Given the description of an element on the screen output the (x, y) to click on. 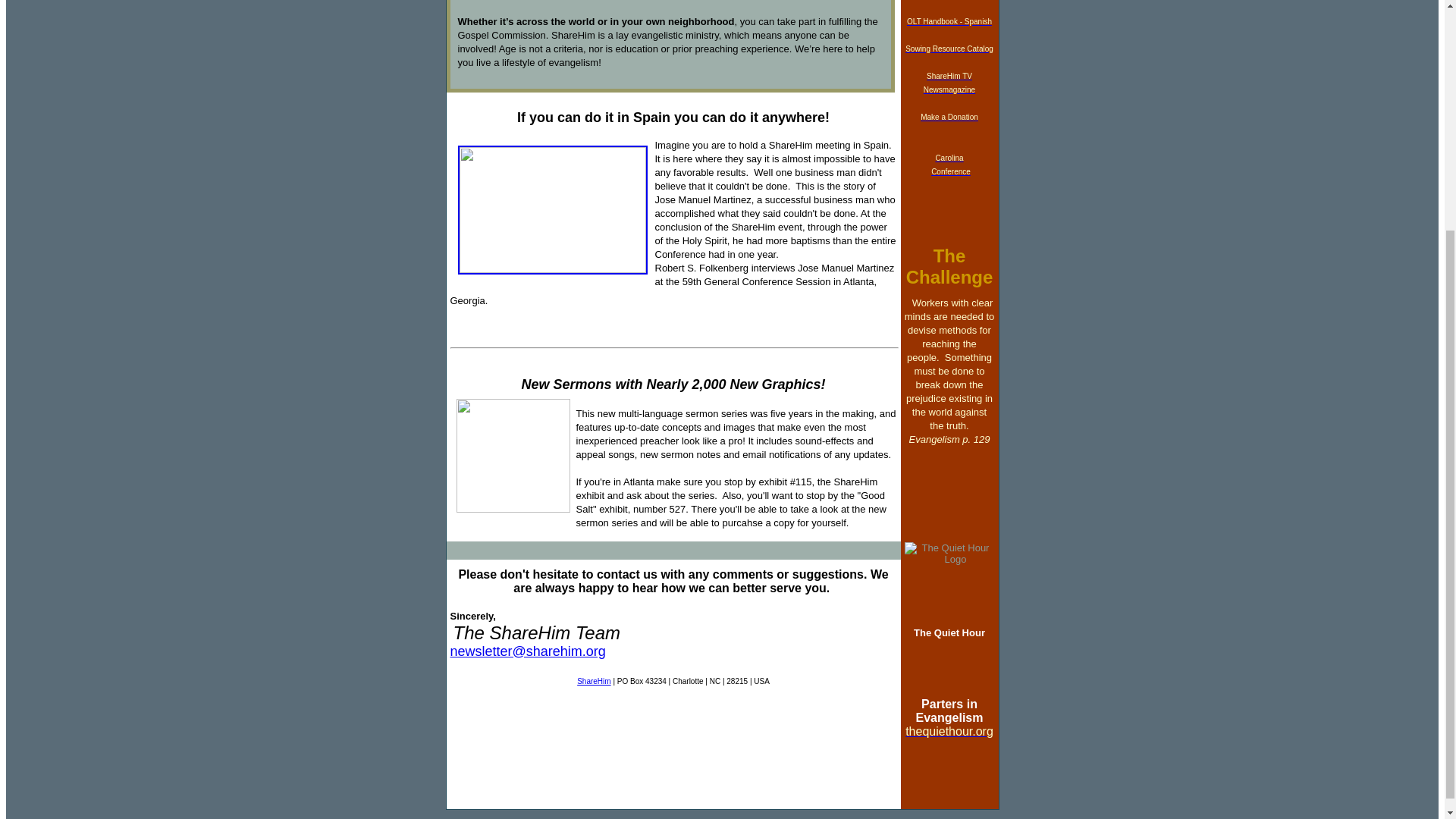
Make a Donation (949, 115)
ShareHim (593, 681)
OLT Handbook - Spanish (949, 19)
Sowing Resource Catalog (948, 47)
thequiethour.org (948, 731)
Carolina (948, 169)
Conference (951, 169)
ShareHim TV Newsmagazine (949, 81)
